Given the description of an element on the screen output the (x, y) to click on. 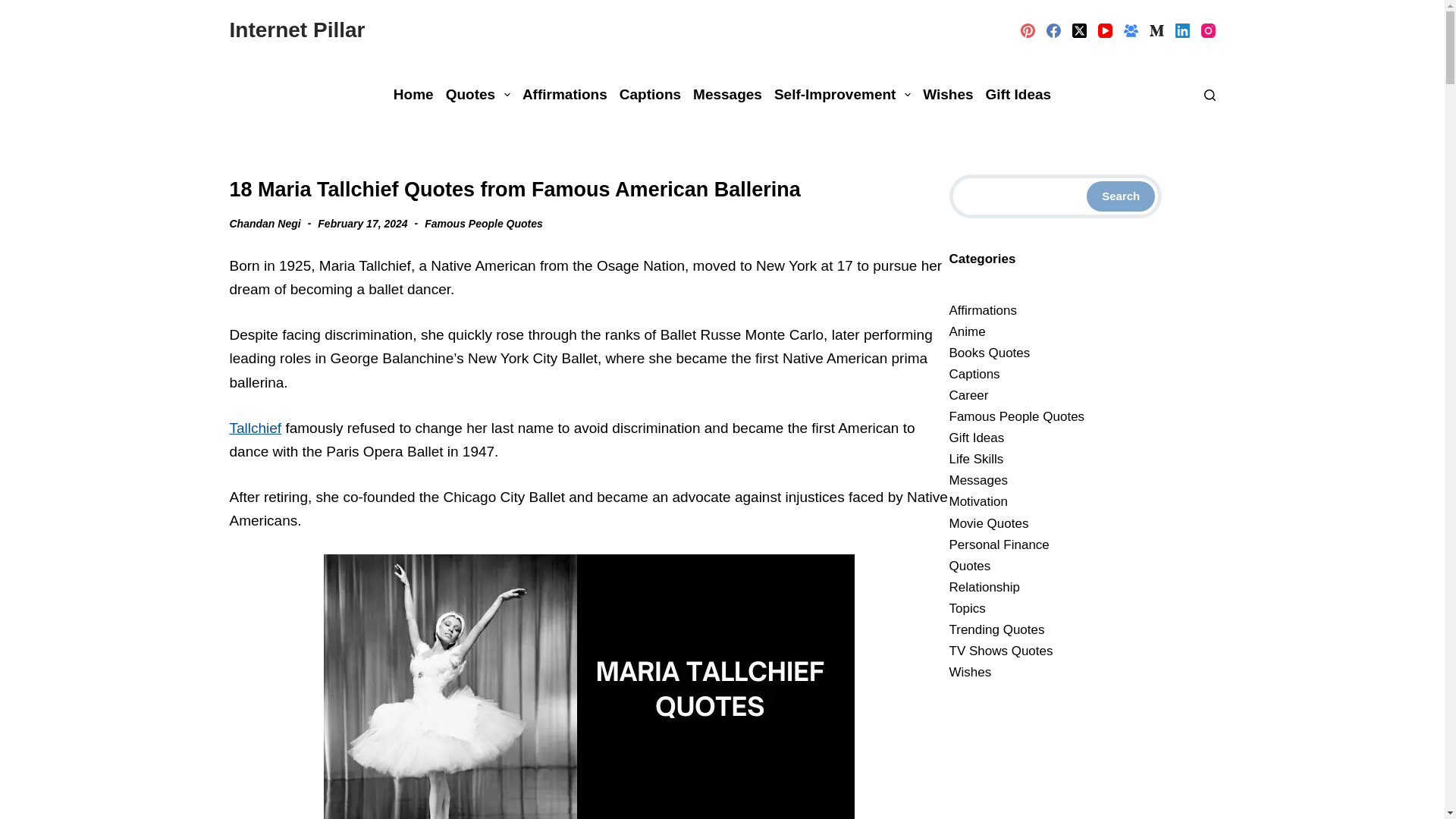
Internet Pillar (296, 29)
Skip to content (15, 7)
Quotes (477, 94)
Posts by Chandan Negi (263, 223)
